Given the description of an element on the screen output the (x, y) to click on. 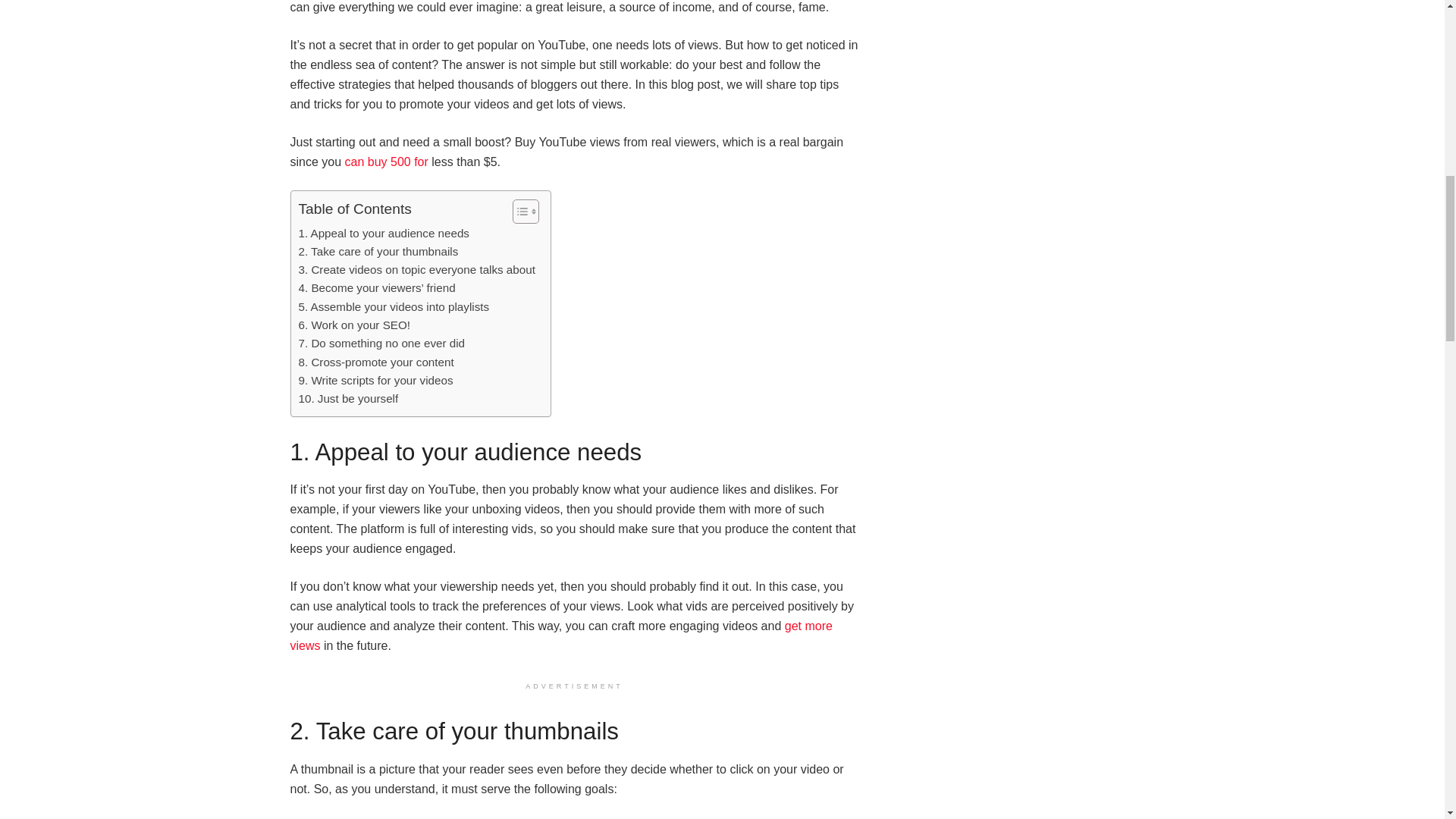
9. Write scripts for your videos (375, 380)
5. Assemble your videos into playlists (393, 307)
8. Cross-promote your content (376, 361)
1. Appeal to your audience needs (383, 233)
6. Work on your SEO! (354, 325)
2. Take care of your thumbnails (378, 251)
7. Do something no one ever did (381, 343)
3. Create videos on topic everyone talks about (416, 270)
10. Just be yourself (348, 398)
